Given the description of an element on the screen output the (x, y) to click on. 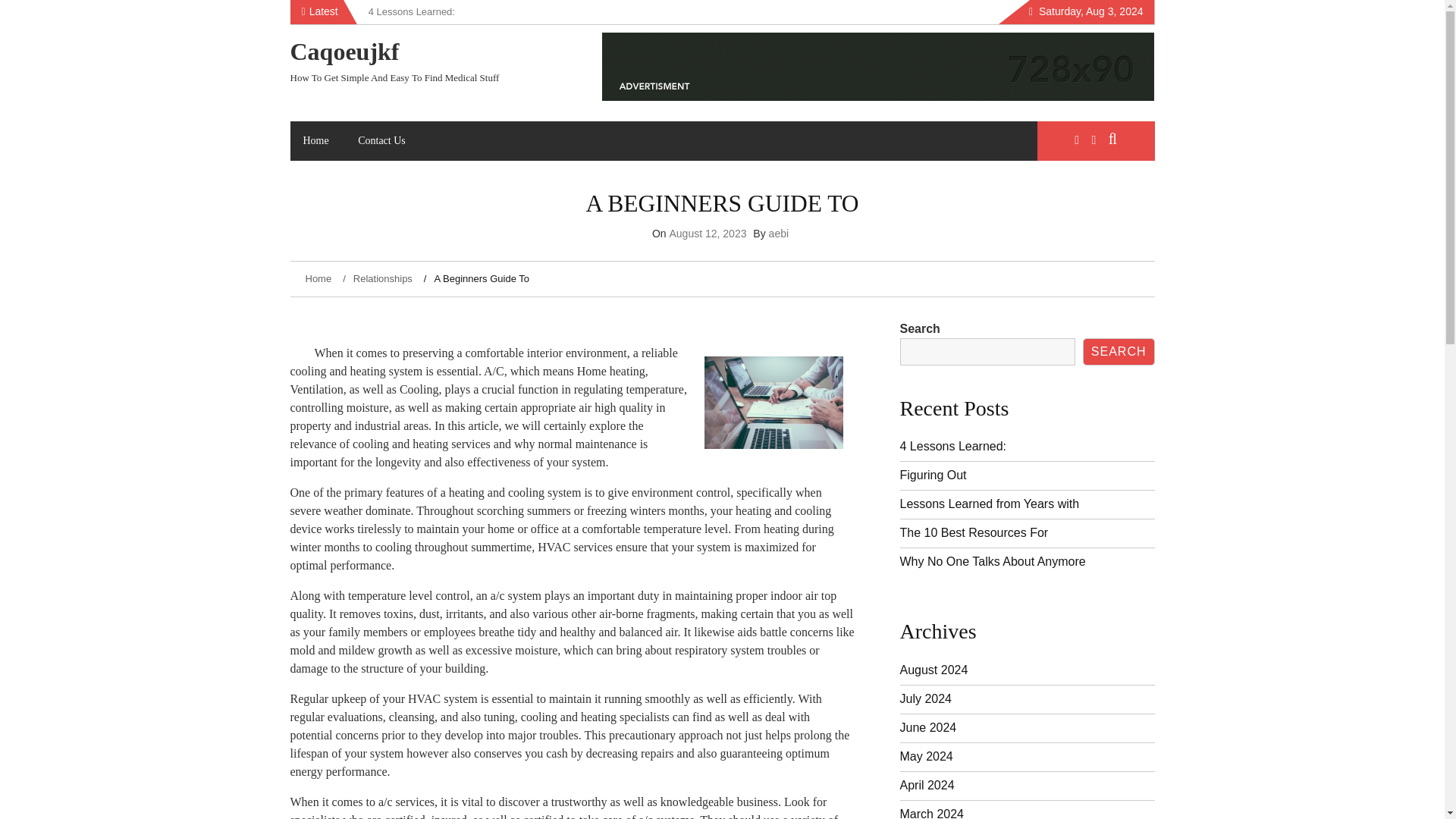
Why No One Talks About Anymore (991, 561)
May 2024 (925, 756)
Home (314, 140)
July 2024 (925, 698)
April 2024 (926, 784)
Home (319, 278)
Figuring Out (932, 474)
Relationships (379, 278)
August 12, 2023 (706, 233)
Lessons Learned from Years with (988, 503)
